Given the description of an element on the screen output the (x, y) to click on. 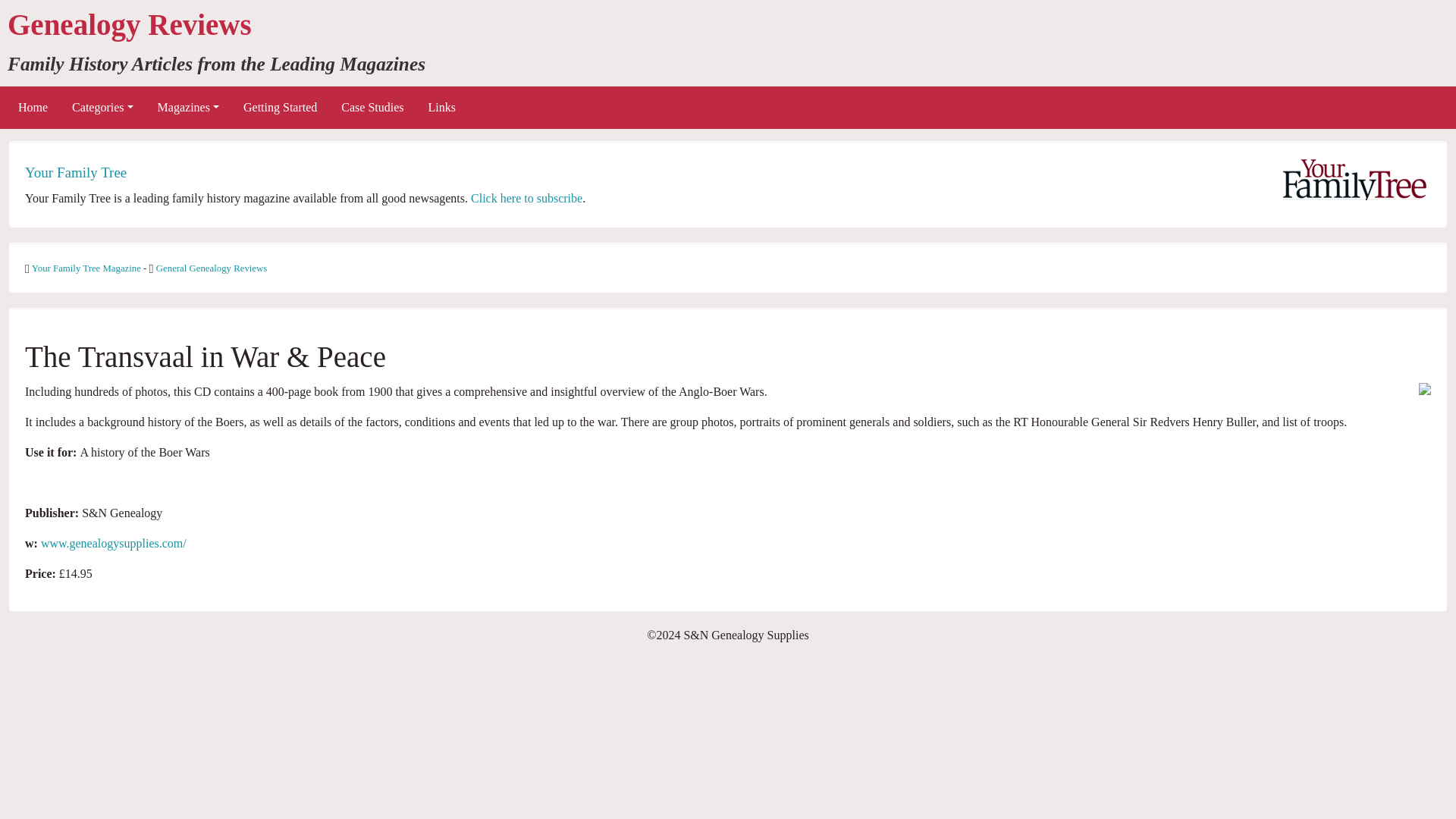
Links (441, 107)
Your Family Tree Magazine (87, 267)
Click here to subscribe (526, 197)
Magazines (188, 107)
General Genealogy Reviews (210, 267)
Your Family Tree (75, 172)
Home (32, 107)
Categories (102, 107)
Getting Started (280, 107)
Case Studies (371, 107)
